Given the description of an element on the screen output the (x, y) to click on. 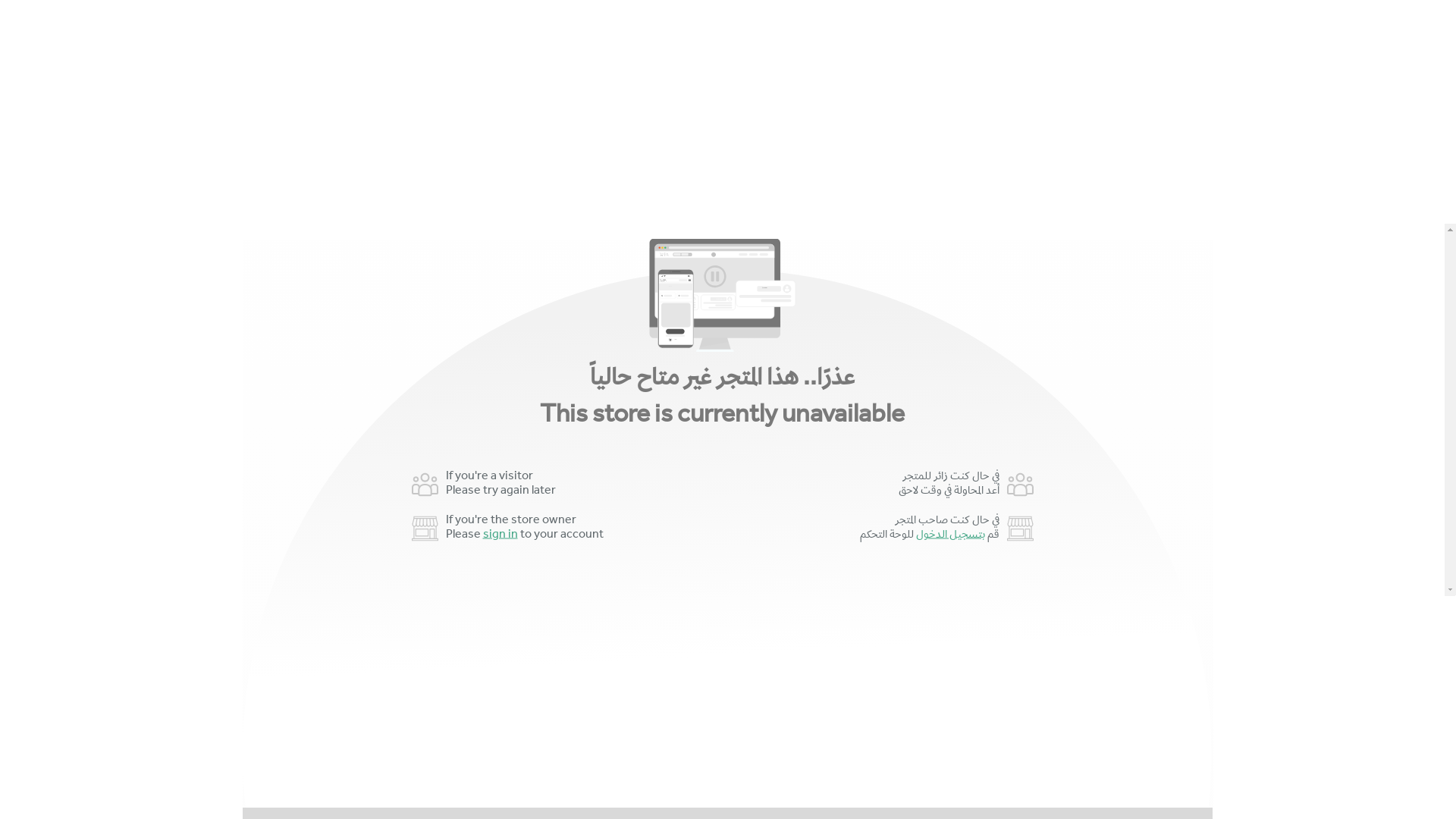
sign in Element type: text (499, 535)
